Given the description of an element on the screen output the (x, y) to click on. 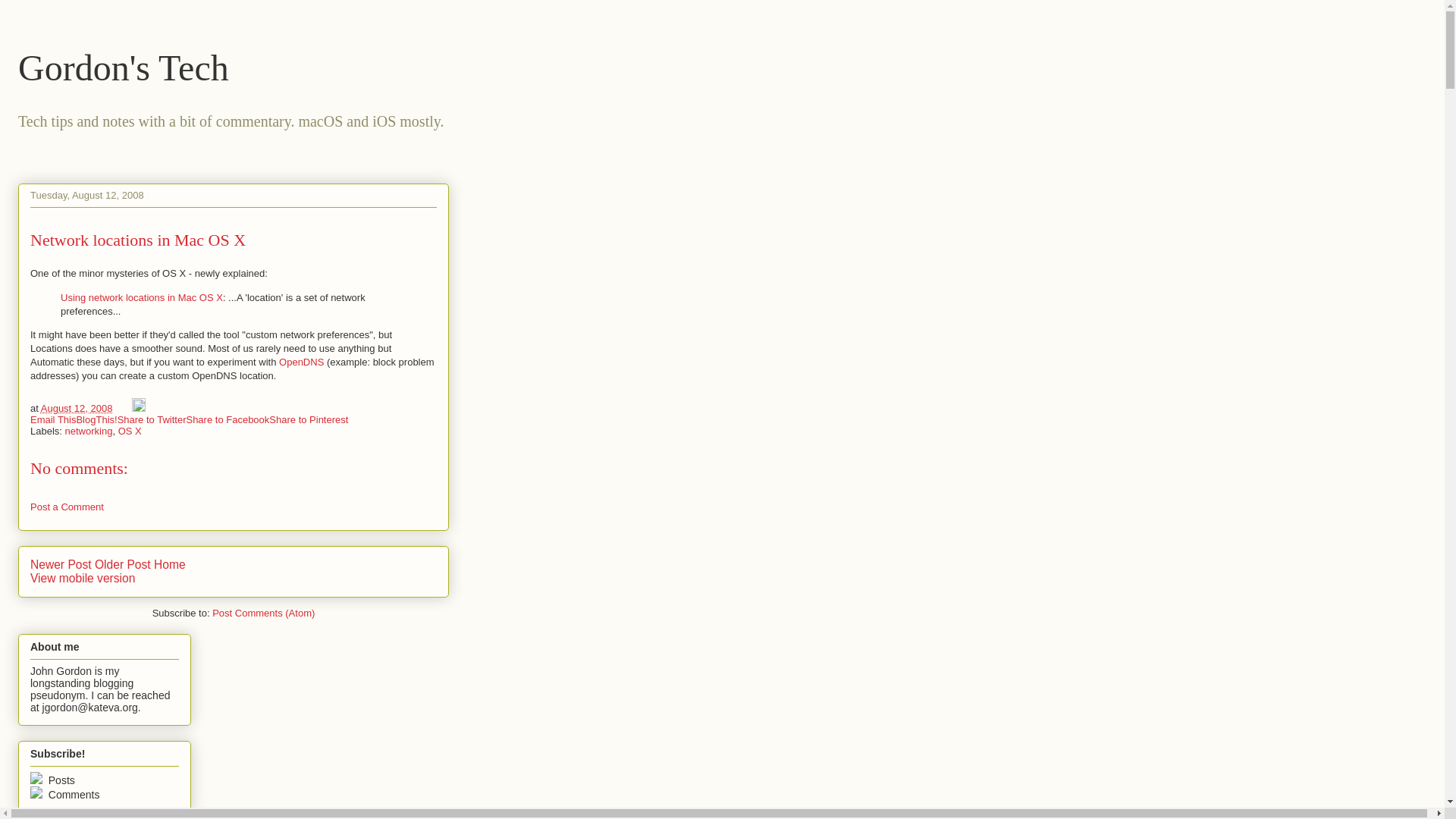
August 12, 2008 (76, 408)
OpenDNS (302, 361)
Share to Pinterest (308, 419)
Home (170, 563)
Gordon's Tech (122, 67)
Share to Facebook (227, 419)
OS X (129, 430)
Newer Post (60, 563)
networking (89, 430)
Older Post (122, 563)
Email This (52, 419)
Using network locations in Mac OS X (141, 296)
Share to Pinterest (308, 419)
Share to Twitter (151, 419)
Older Post (122, 563)
